Given the description of an element on the screen output the (x, y) to click on. 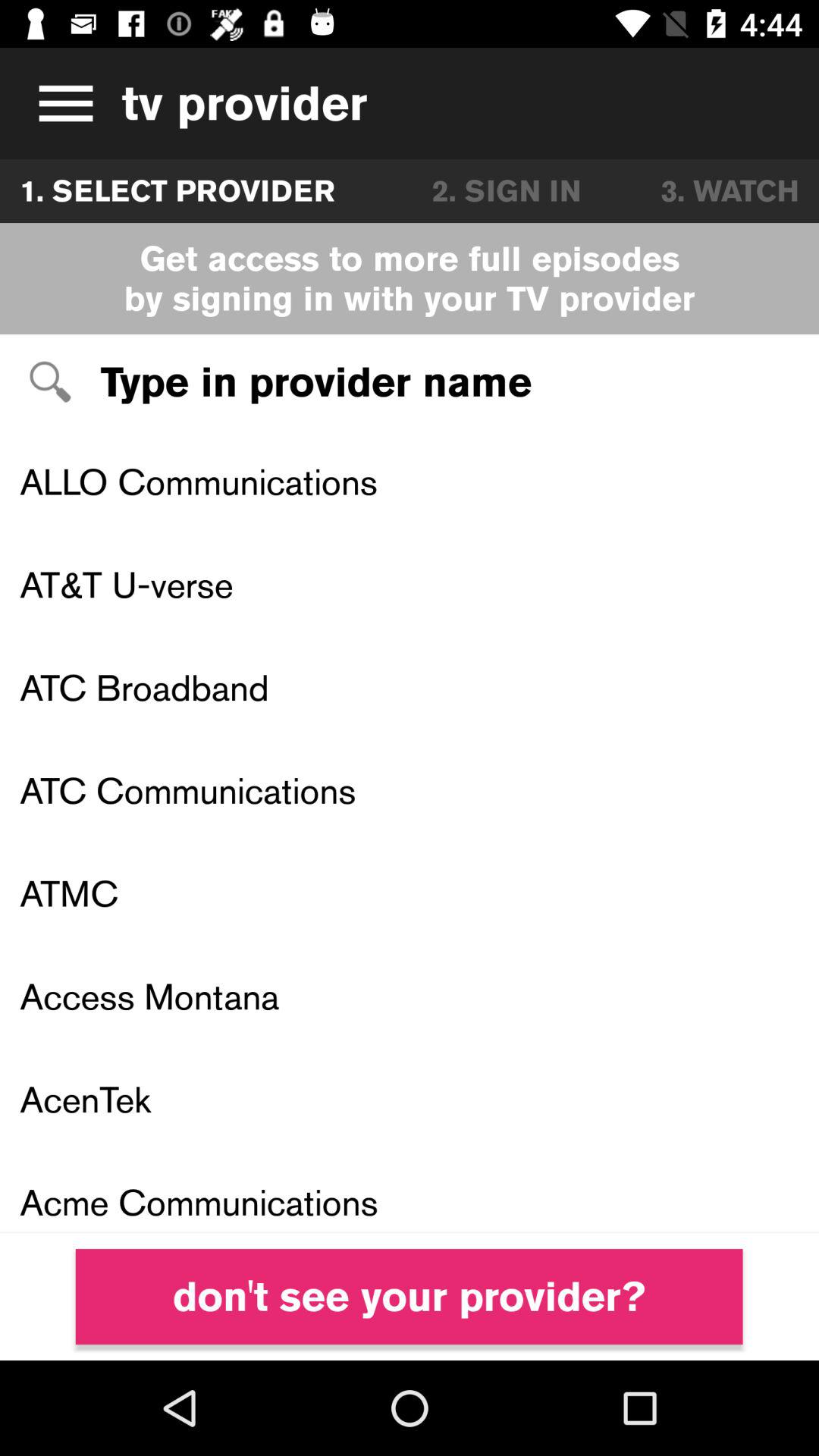
provider name text field (409, 381)
